Given the description of an element on the screen output the (x, y) to click on. 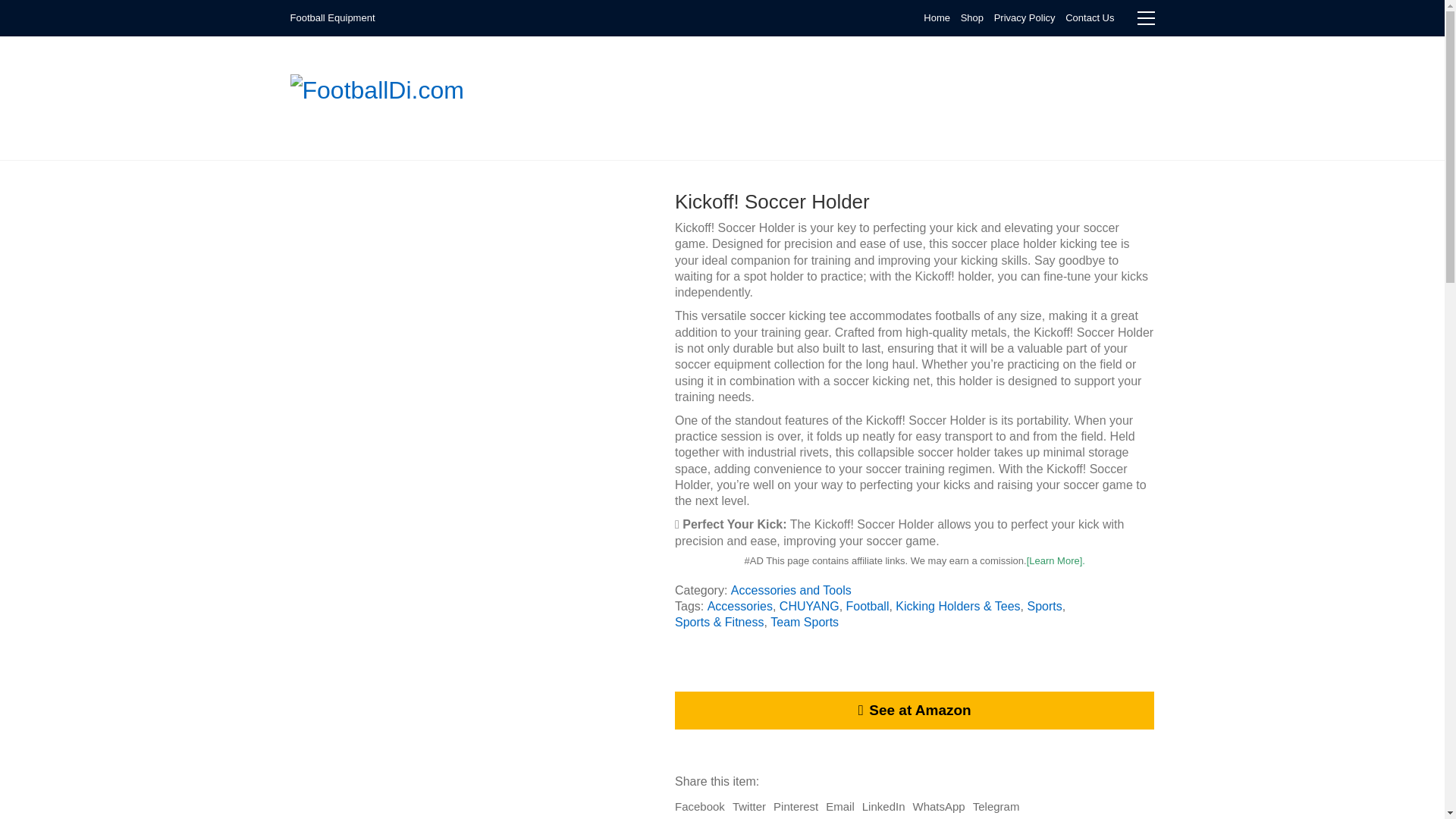
Gloves (682, 106)
See at Amazon (914, 710)
Accessories and Tools (790, 590)
Football Collectible Trading Cards (706, 89)
Shop (972, 17)
Contact Us (1089, 17)
Privacy Policy (1024, 17)
Footballs (1017, 89)
Football (867, 606)
Team Sports (804, 621)
